Given the description of an element on the screen output the (x, y) to click on. 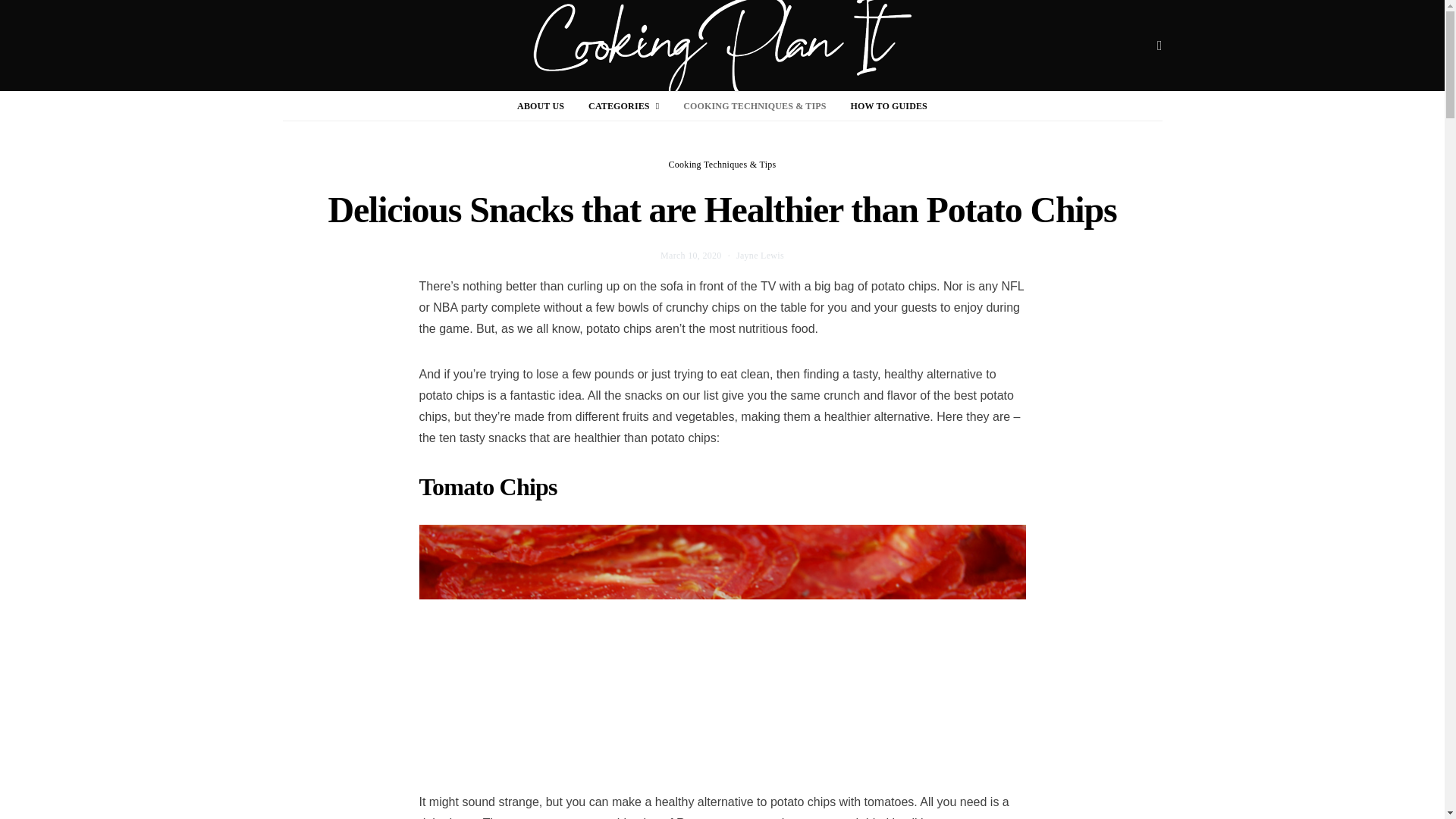
HOW TO GUIDES (888, 105)
ABOUT US (540, 105)
CATEGORIES (623, 105)
